Given the description of an element on the screen output the (x, y) to click on. 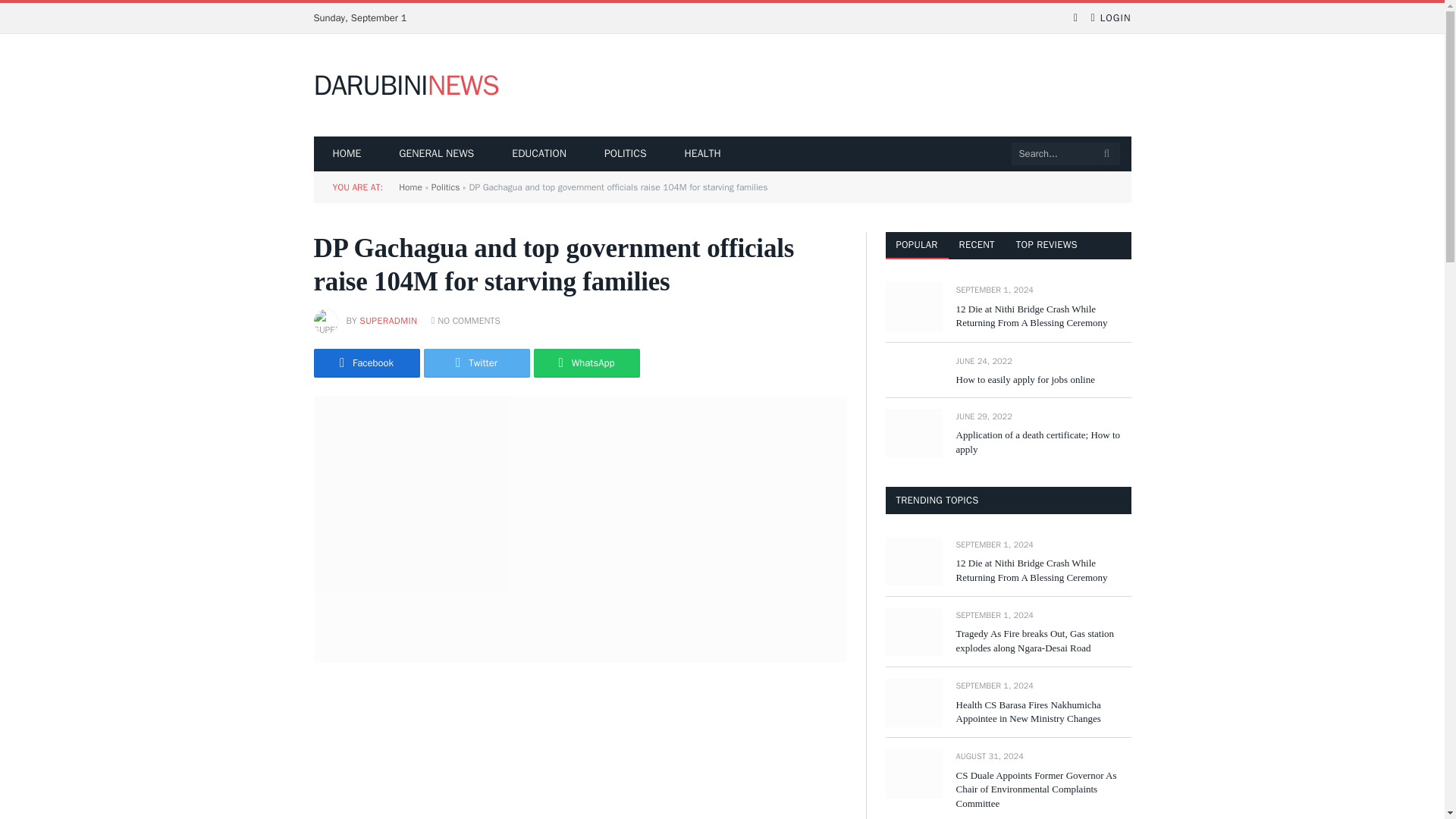
Share on Facebook (406, 85)
Facebook (367, 362)
LOGIN (367, 362)
Share on Twitter (1110, 18)
HEALTH (476, 362)
Home (702, 153)
Posts by SuperAdmin (410, 186)
Share on WhatsApp (387, 320)
